Given the description of an element on the screen output the (x, y) to click on. 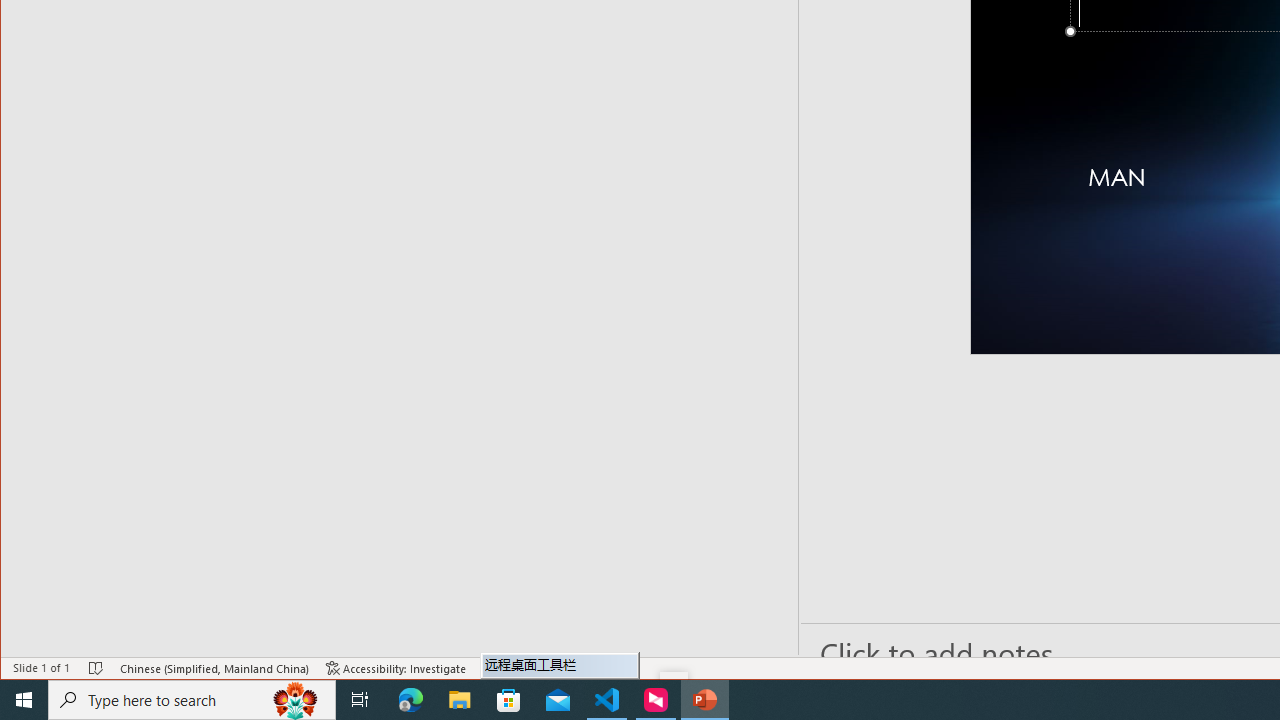
Microsoft Edge (411, 699)
